Given the description of an element on the screen output the (x, y) to click on. 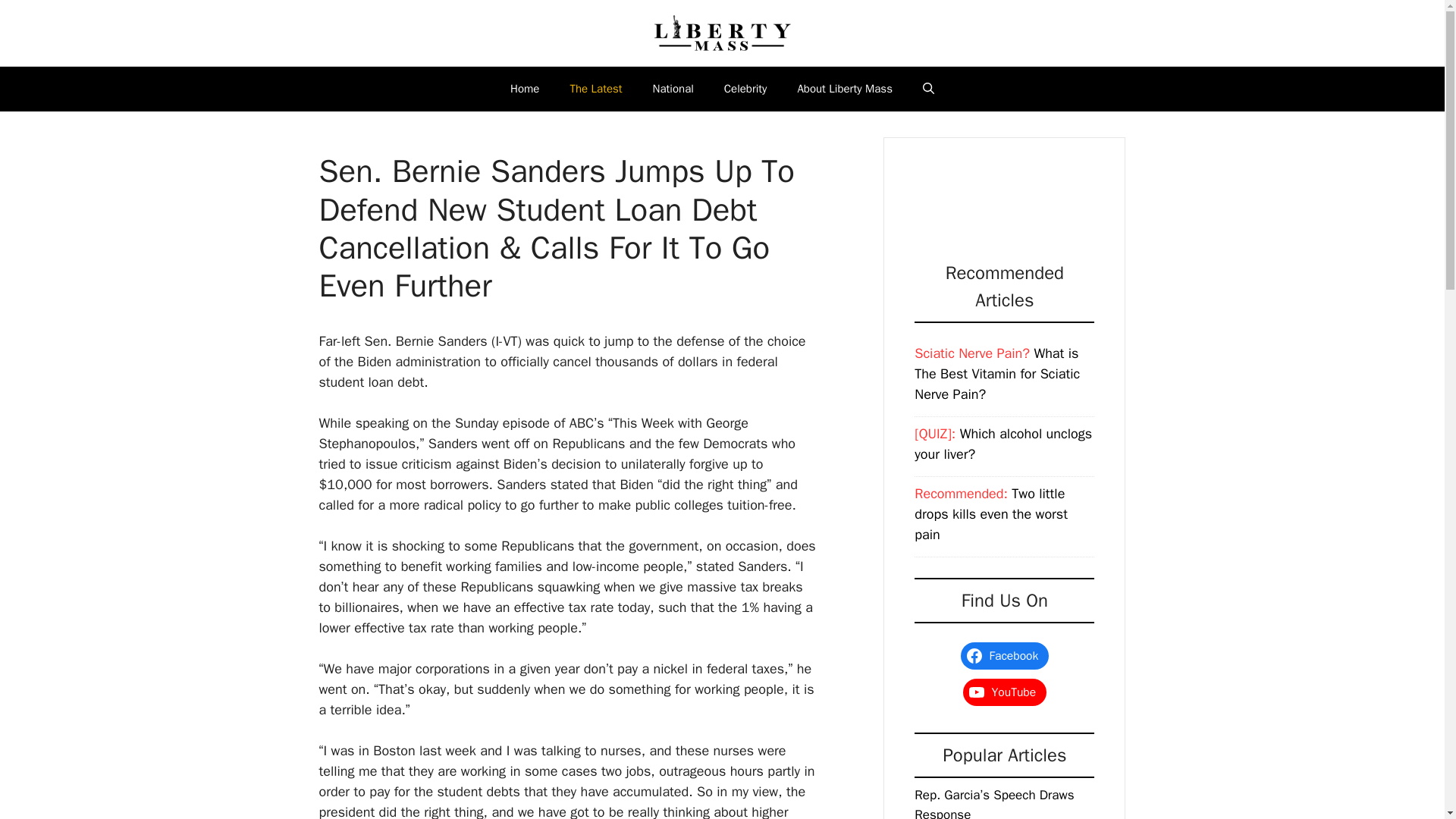
About Liberty Mass (844, 88)
Facebook (1004, 655)
Home (524, 88)
The Latest (595, 88)
Celebrity (746, 88)
YouTube (1004, 691)
National (673, 88)
Recommended: Two little drops kills even the worst pain (990, 513)
